Given the description of an element on the screen output the (x, y) to click on. 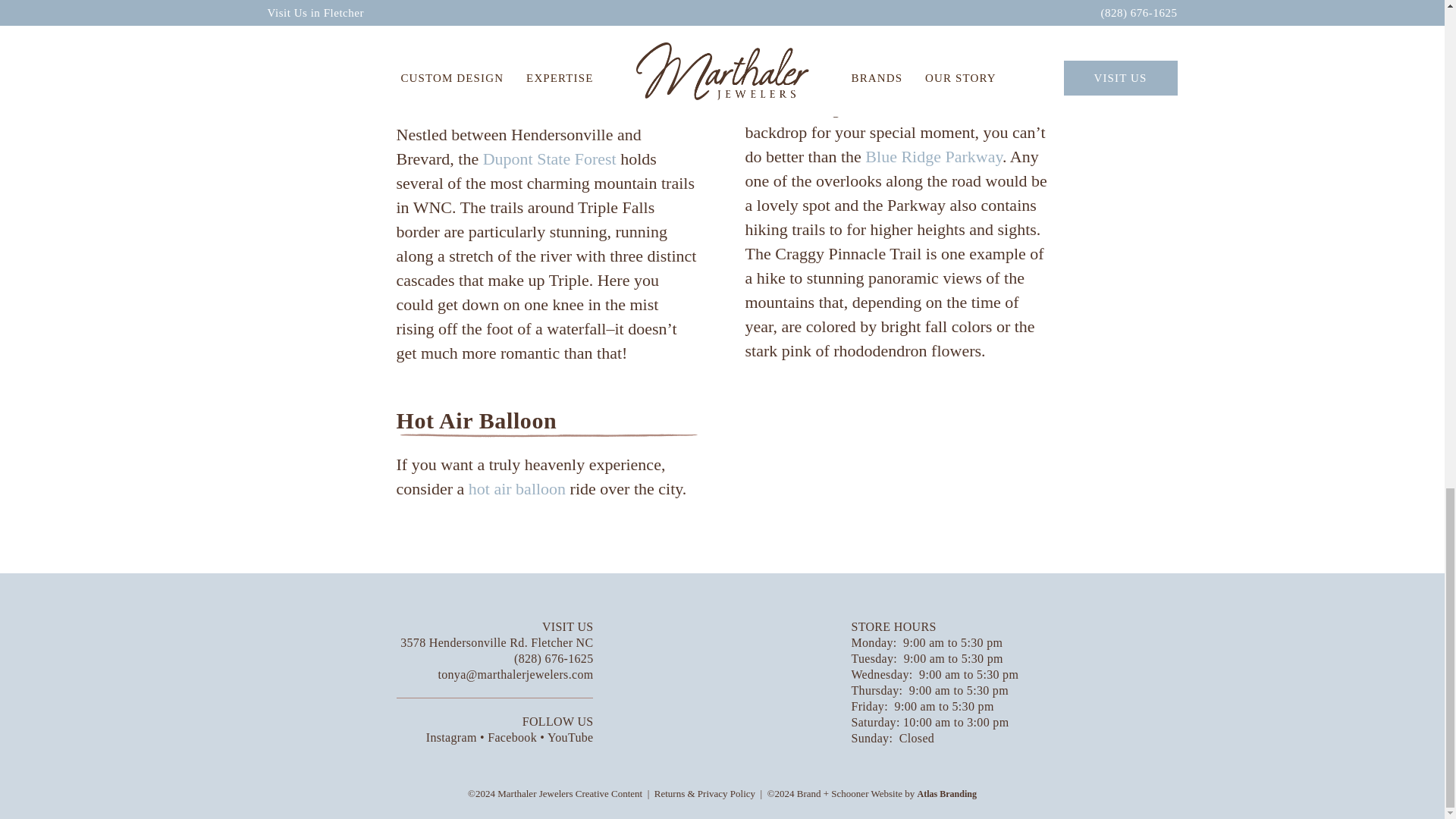
Blue Ridge Parkway (933, 156)
YouTube (570, 737)
Facebook (513, 737)
3578 Hendersonville Rd. Fletcher NC (496, 642)
Atlas Branding (946, 793)
Instagram (451, 737)
hot air balloon (517, 488)
Dupont State Forest (549, 158)
